Given the description of an element on the screen output the (x, y) to click on. 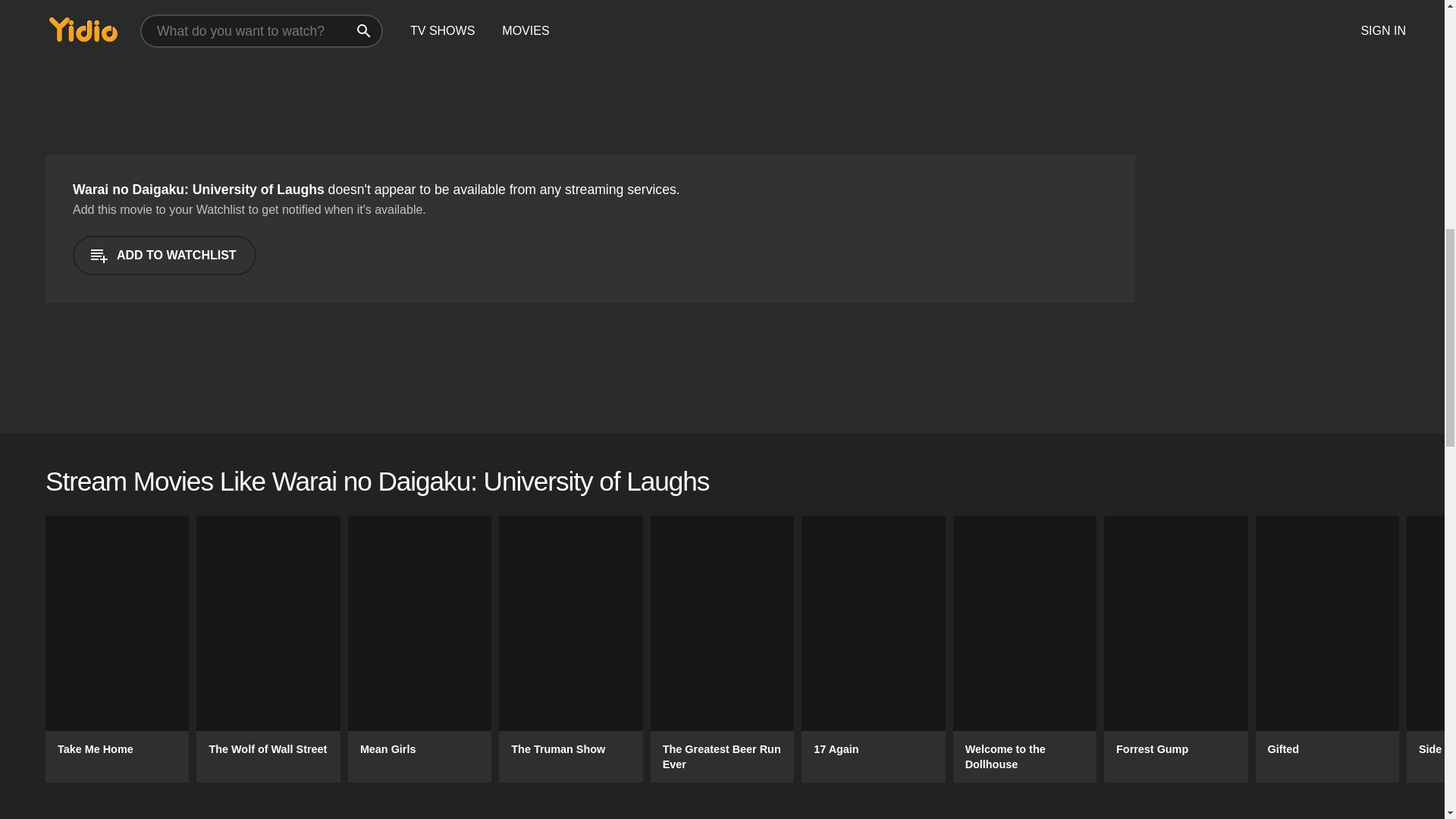
ADD TO WATCHLIST (164, 255)
Forrest Gump (1175, 648)
The Wolf of Wall Street (267, 648)
Mean Girls (419, 648)
Take Me Home (117, 648)
Advertisement (1285, 185)
Advertisement (320, 63)
The Truman Show (570, 648)
Gifted (1327, 648)
17 Again (873, 648)
The Greatest Beer Run Ever (721, 648)
Welcome to the Dollhouse (1024, 648)
